Given the description of an element on the screen output the (x, y) to click on. 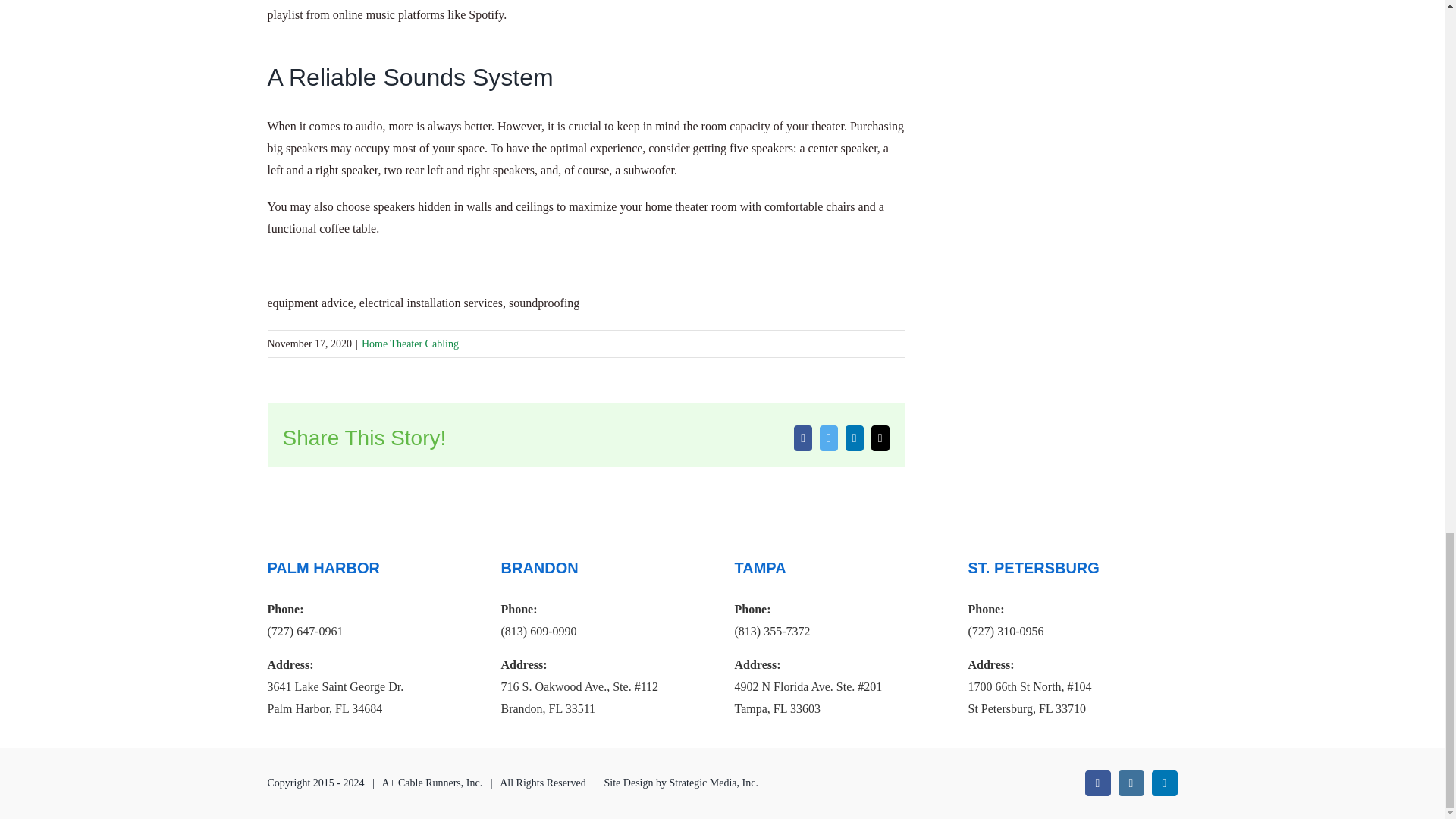
Facebook (802, 438)
Twitter (828, 438)
Home Theater Cabling (409, 343)
LinkedIn (1163, 783)
Instagram (1130, 783)
Facebook (1096, 783)
Email (879, 438)
LinkedIn (854, 438)
